Given the description of an element on the screen output the (x, y) to click on. 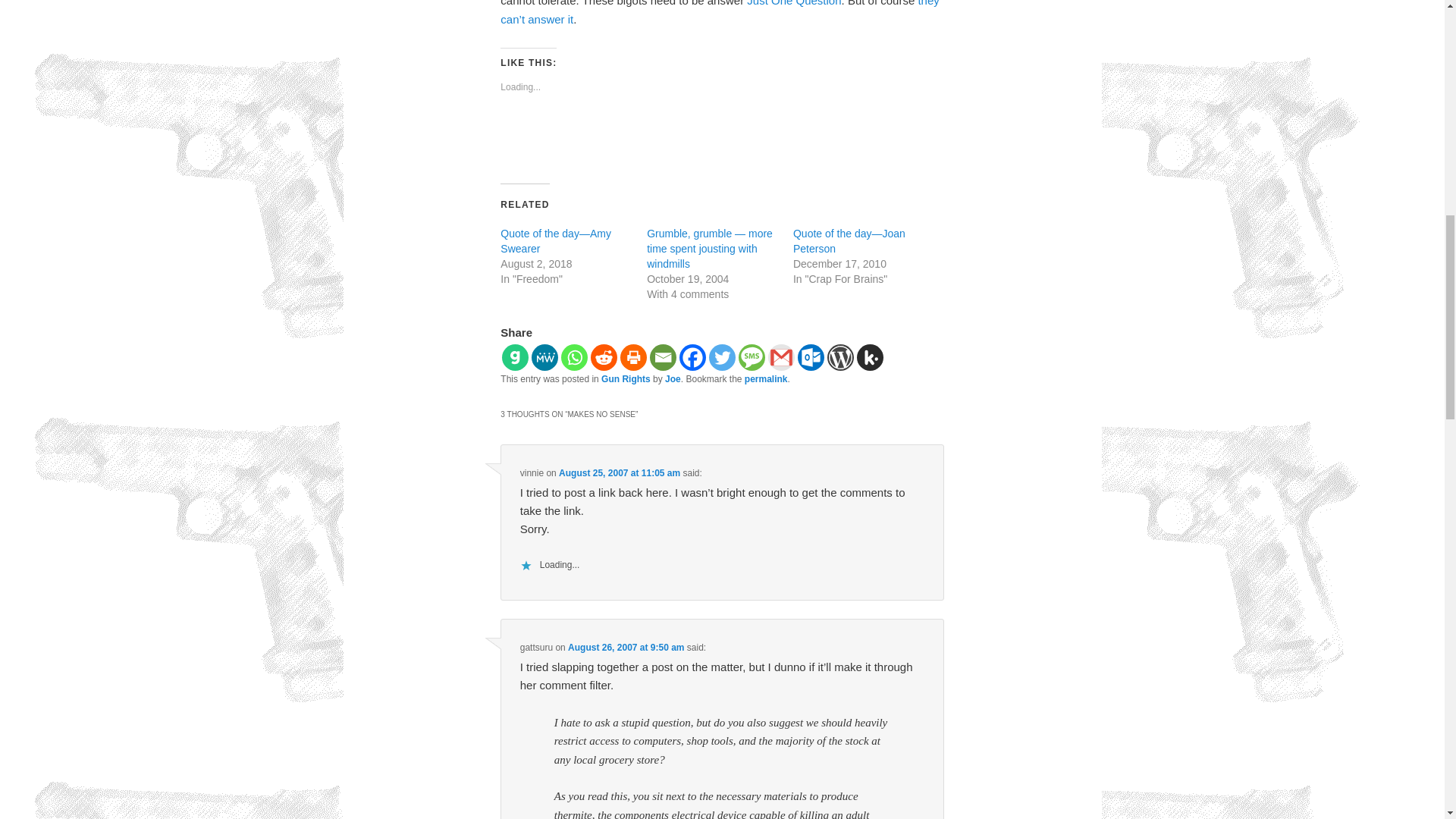
August 26, 2007 at 9:50 am (625, 647)
Gun Rights (625, 378)
Reddit (604, 357)
Just One Question (793, 3)
Email (663, 357)
Gab (515, 357)
MeWe (544, 357)
August 25, 2007 at 11:05 am (619, 472)
Whatsapp (574, 357)
Like or Reblog (721, 139)
Joe (673, 378)
Facebook (692, 357)
Print (633, 357)
permalink (765, 378)
